Given the description of an element on the screen output the (x, y) to click on. 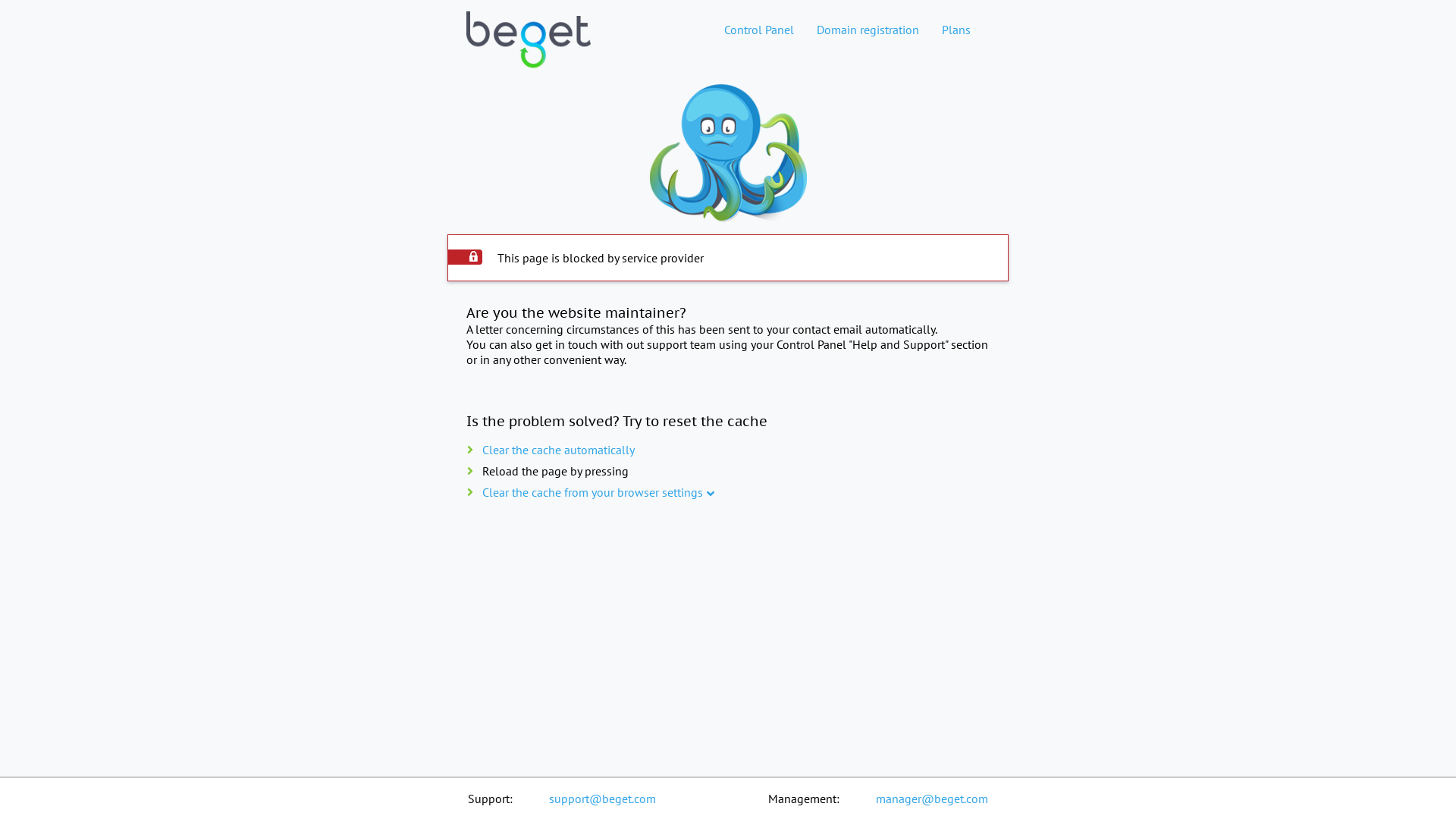
Control Panel Element type: text (758, 29)
Clear the cache from your browser settings Element type: text (592, 491)
Web hosting home page Element type: hover (528, 51)
manager@beget.com Element type: text (931, 798)
support@beget.com Element type: text (602, 798)
Clear the cache automatically Element type: text (558, 449)
Plans Element type: text (956, 29)
Domain registration Element type: text (867, 29)
